Given the description of an element on the screen output the (x, y) to click on. 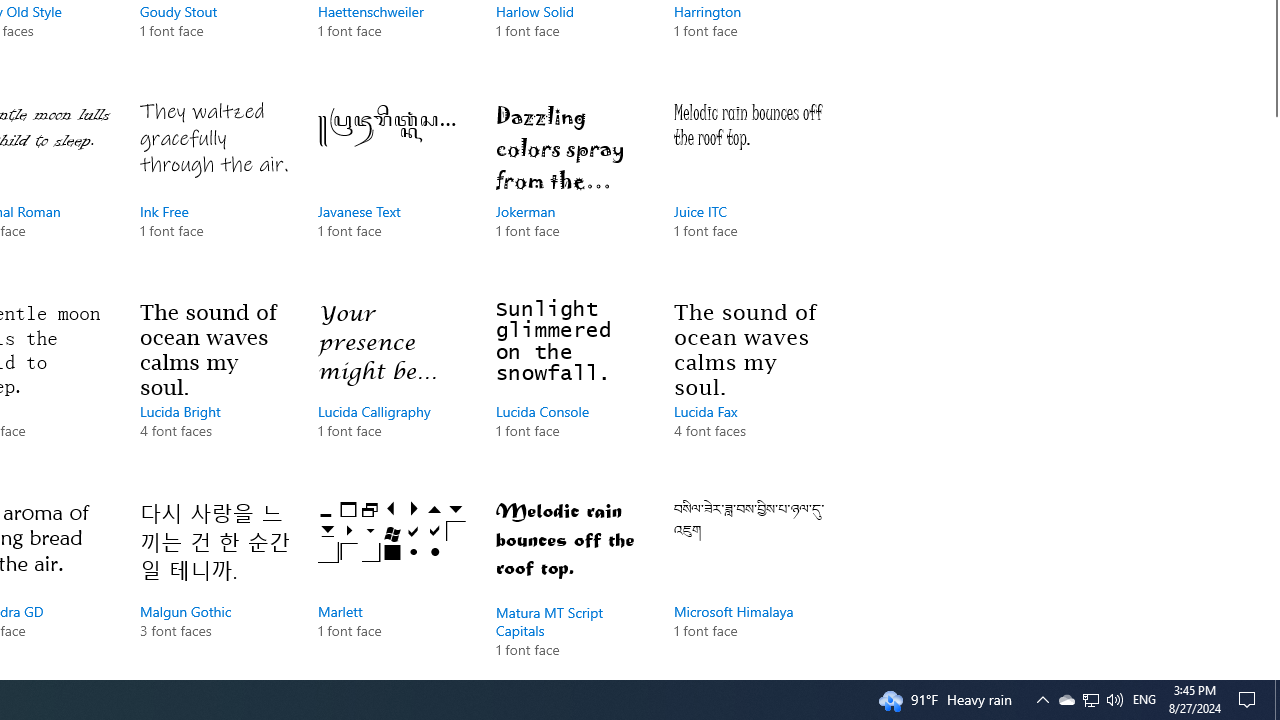
Lucida Console, 1 font face (570, 390)
Q2790: 100% (1114, 699)
Jokerman, 1 font face (570, 190)
Lucida Bright, 4 font faces (214, 390)
Malgun Gothic, 3 font faces (214, 584)
Microsoft Himalaya, 1 font face (748, 584)
Vertical Large Increase (1272, 389)
Matura MT Script Capitals, 1 font face (570, 584)
